Given the description of an element on the screen output the (x, y) to click on. 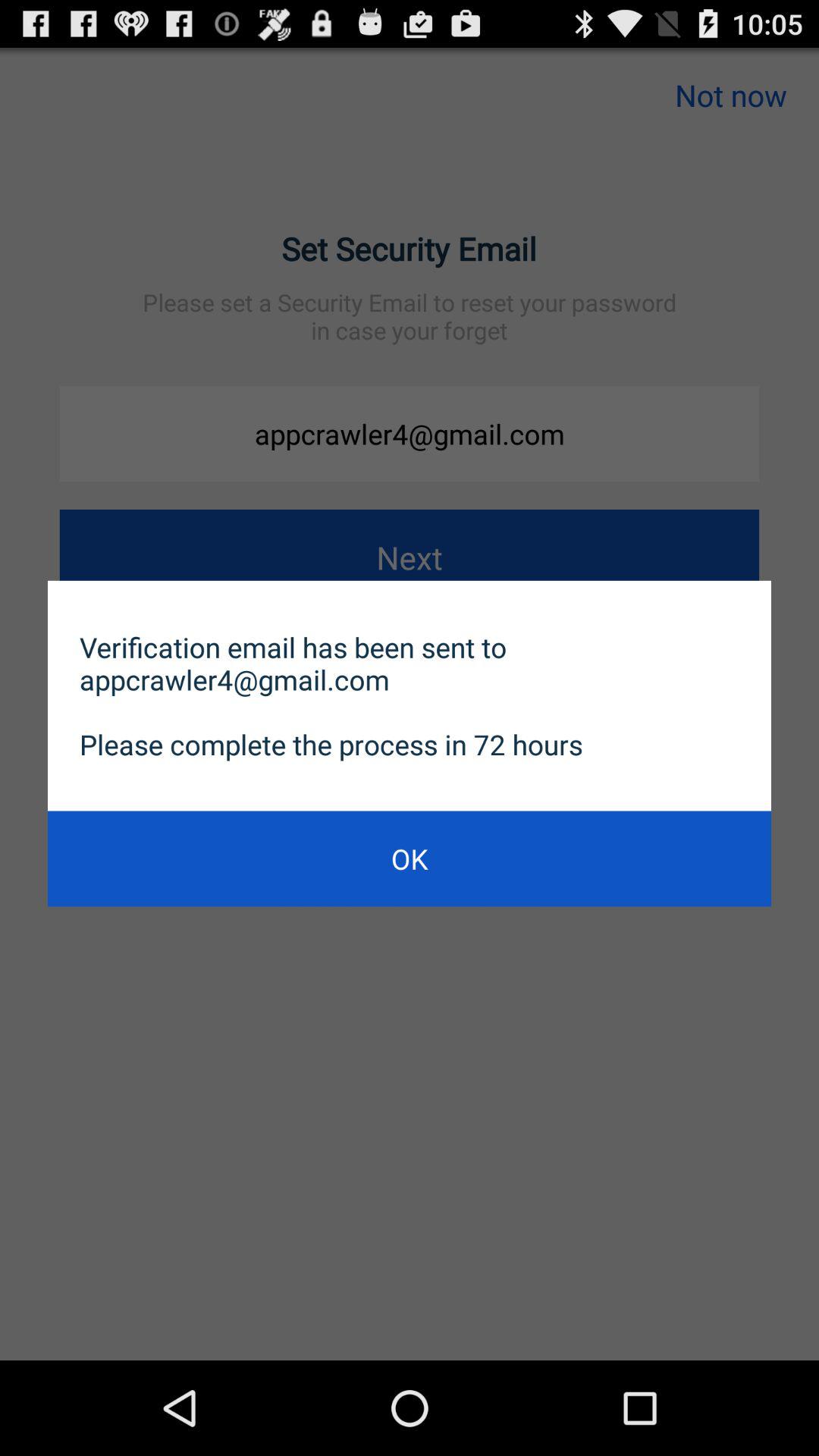
turn on the ok icon (409, 858)
